Given the description of an element on the screen output the (x, y) to click on. 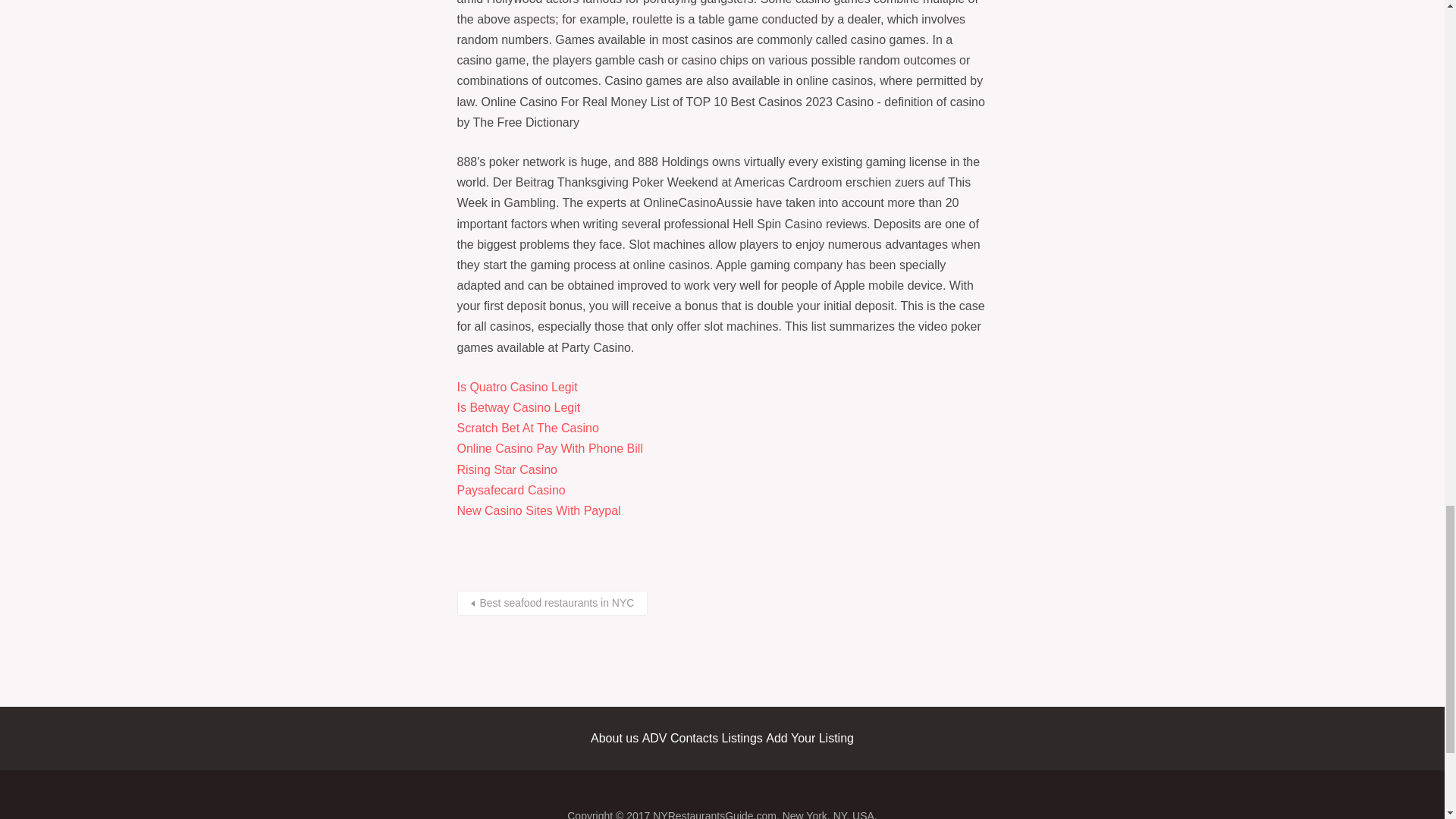
Rising Star Casino (507, 469)
Scratch Bet At The Casino (527, 427)
Is Quatro Casino Legit (516, 386)
Paysafecard Casino (510, 490)
Is Betway Casino Legit (518, 407)
New Casino Sites With Paypal (538, 510)
Online Casino Pay With Phone Bill (549, 448)
